Given the description of an element on the screen output the (x, y) to click on. 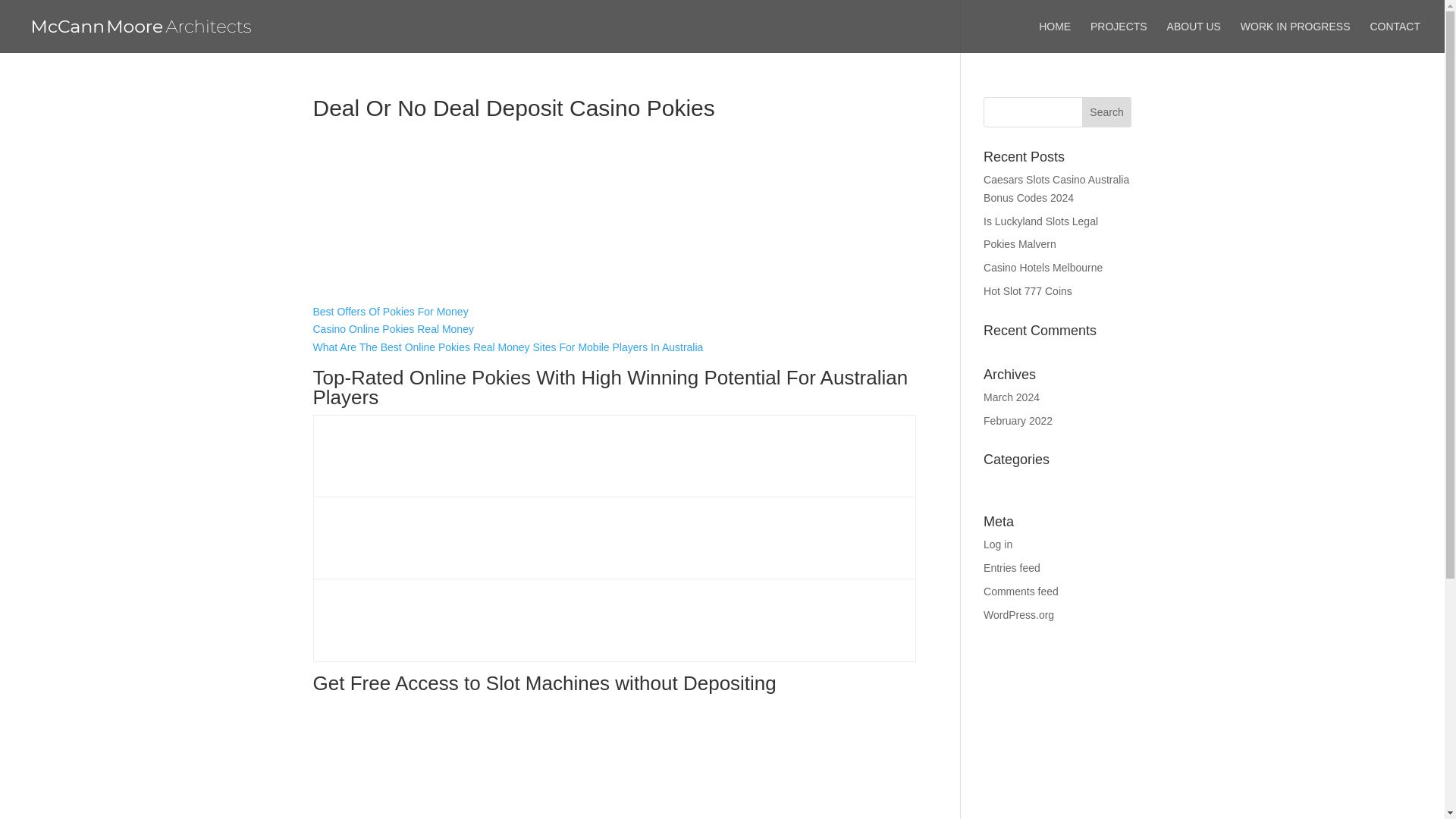
Log in (997, 544)
Casino Hotels Melbourne (1043, 267)
Is Luckyland Slots Legal (1040, 221)
Search (1106, 112)
Caesars Slots Casino Australia Bonus Codes 2024 (1056, 188)
CONTACT (1395, 37)
PROJECTS (1118, 37)
Entries feed (1012, 567)
Casino Online Pokies Real Money (393, 328)
March 2024 (1011, 397)
ABOUT US (1194, 37)
WORK IN PROGRESS (1295, 37)
Hot Slot 777 Coins (1027, 291)
Comments feed (1021, 591)
